Given the description of an element on the screen output the (x, y) to click on. 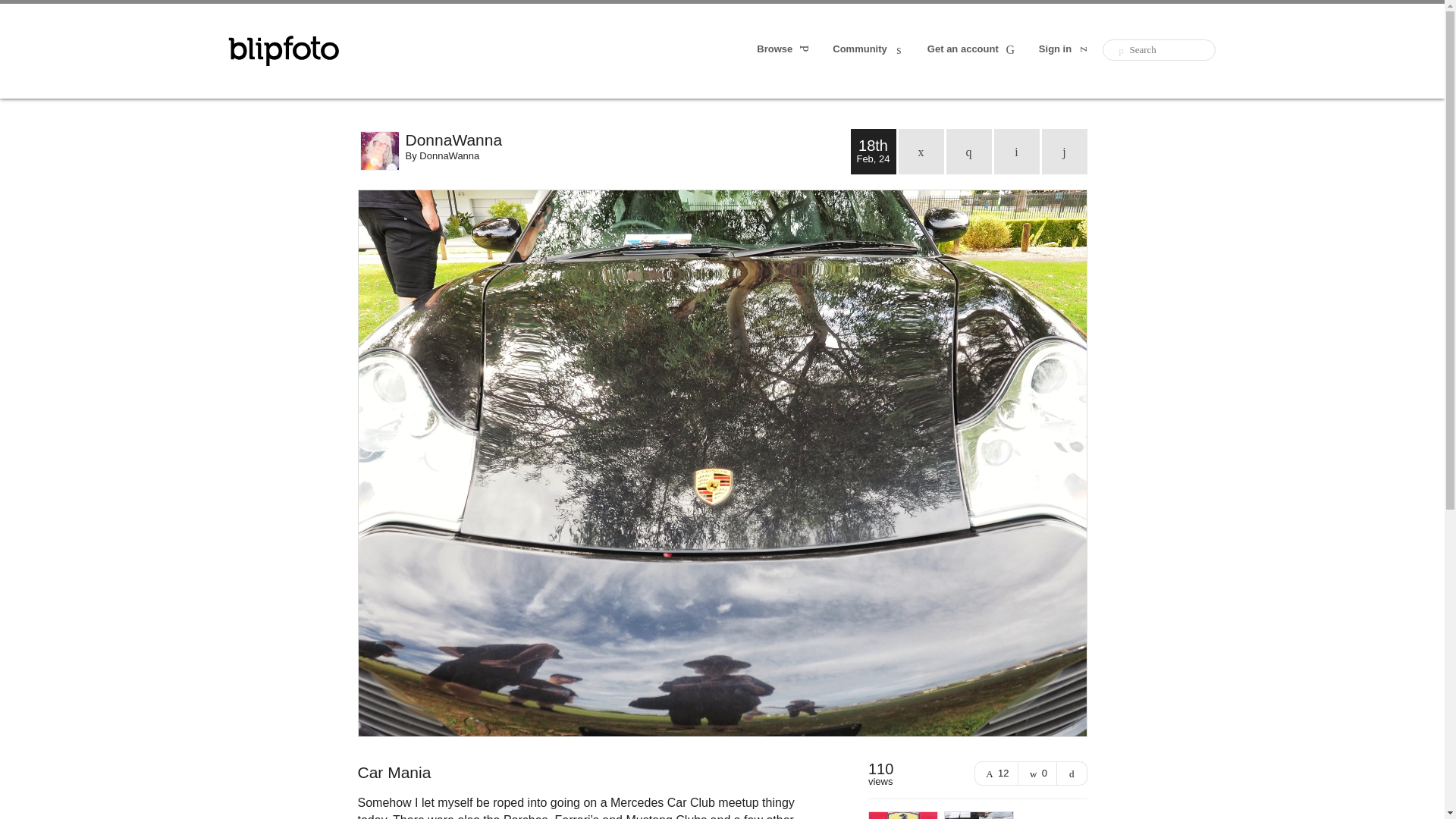
Get an account (972, 50)
calendar (920, 151)
Previous (1015, 151)
Show large (1072, 773)
Community (868, 50)
One year ago (968, 151)
Next (1064, 151)
Browse (783, 50)
Sign in (1064, 50)
DonnaWanna (449, 155)
DonnaWanna (627, 139)
